Given the description of an element on the screen output the (x, y) to click on. 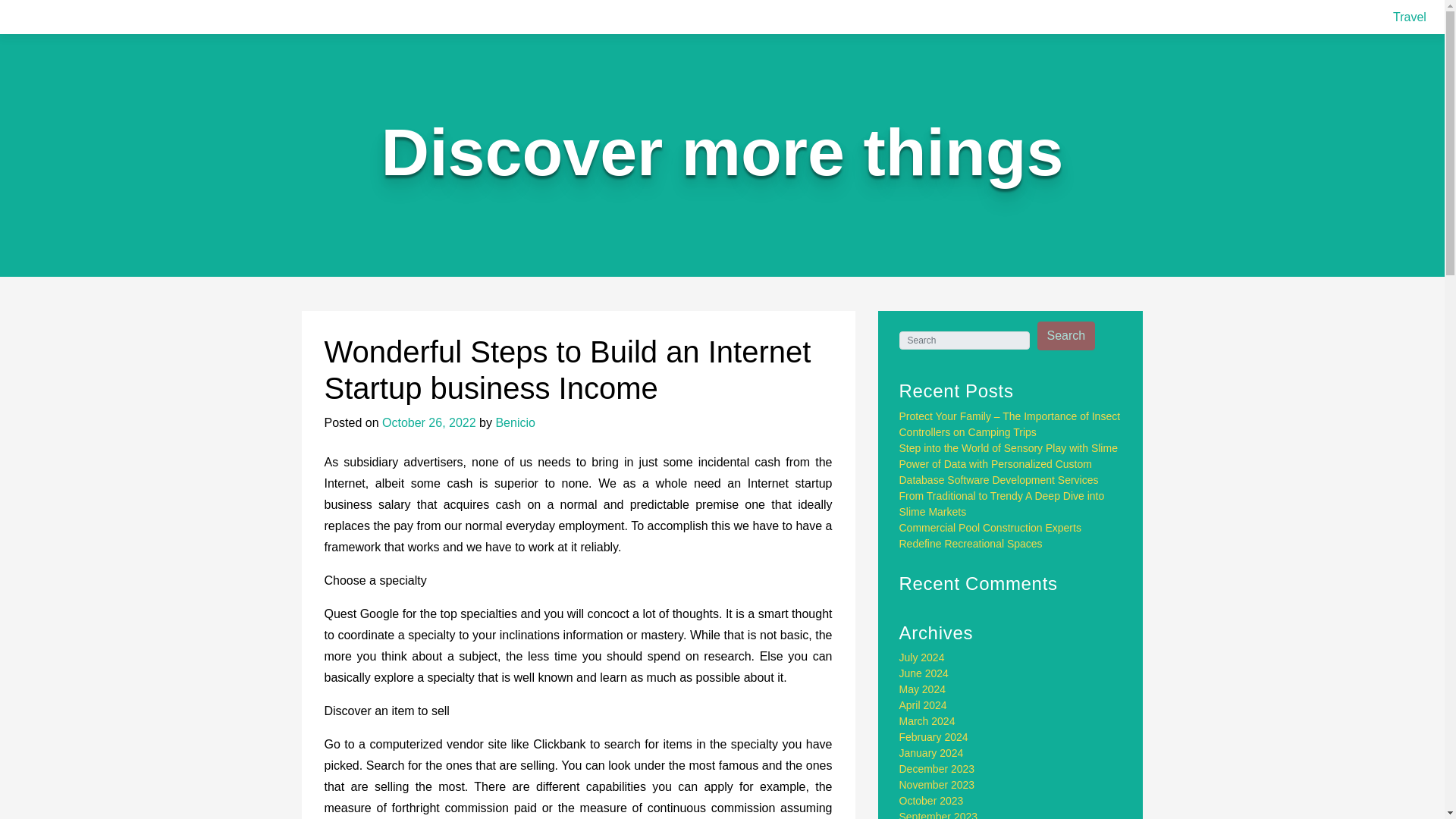
December 2023 (937, 768)
Step into the World of Sensory Play with Slime (1008, 448)
May 2024 (921, 689)
Travel (1409, 16)
October 26, 2022 (428, 422)
From Traditional to Trendy A Deep Dive into Slime Markets (1002, 503)
October 2023 (931, 800)
April 2024 (923, 705)
Search (1066, 335)
Travel (1409, 16)
